Given the description of an element on the screen output the (x, y) to click on. 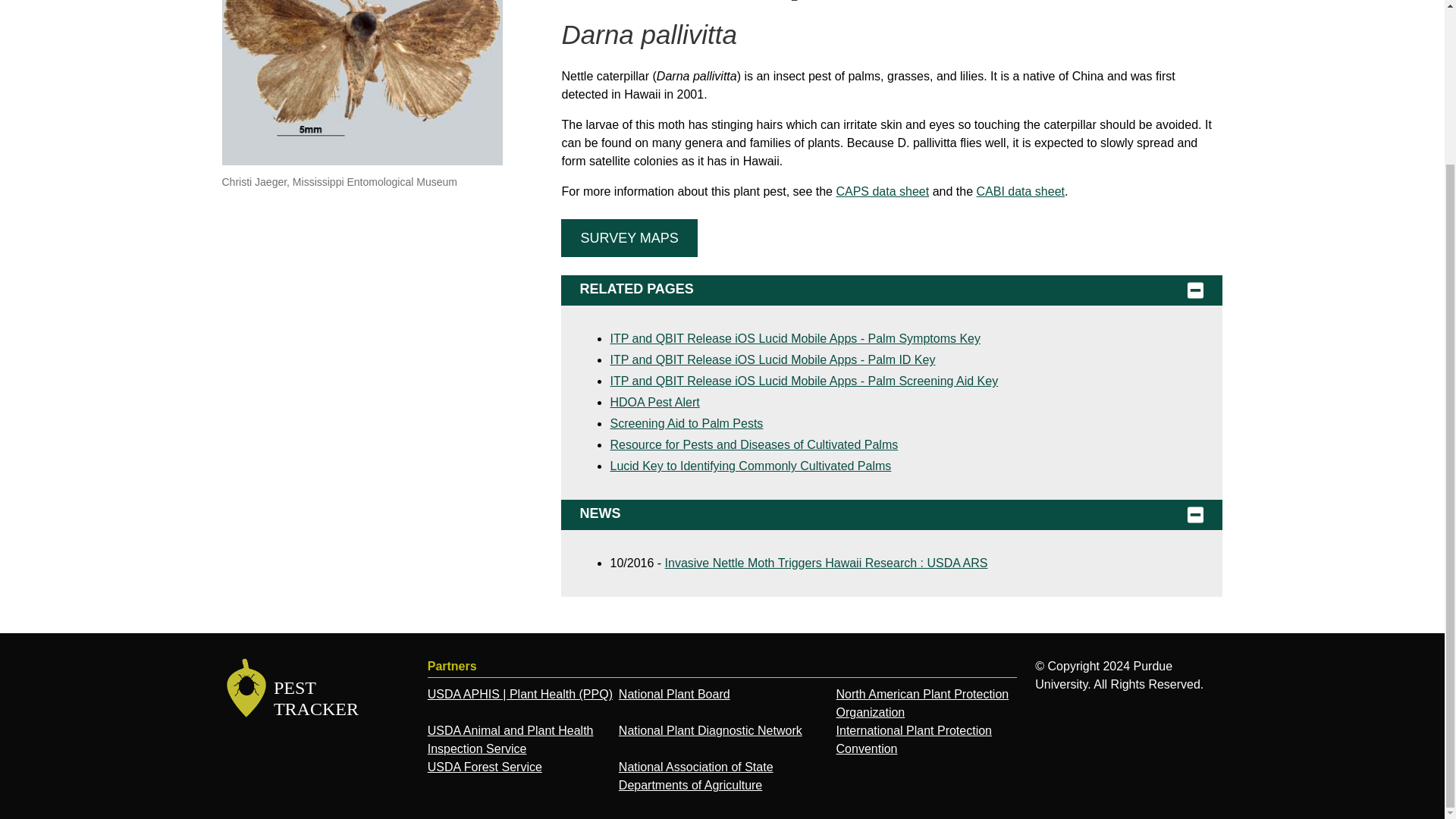
NEWS (891, 514)
USDA Animal and Plant Health Inspection Service (511, 739)
National Association of State Departments of Agriculture (695, 775)
RELATED PAGES (891, 290)
North American Plant Protection Organization (922, 703)
USDA Forest Service (484, 766)
National Plant Diagnostic Network (710, 730)
CABI data sheet (1019, 191)
ITP and QBIT Release iOS Lucid Mobile Apps - Palm ID Key (772, 359)
Lucid Key to Identifying Commonly Cultivated Palms (750, 465)
International Plant Protection Convention (913, 739)
Screening Aid to Palm Pests (316, 688)
